Given the description of an element on the screen output the (x, y) to click on. 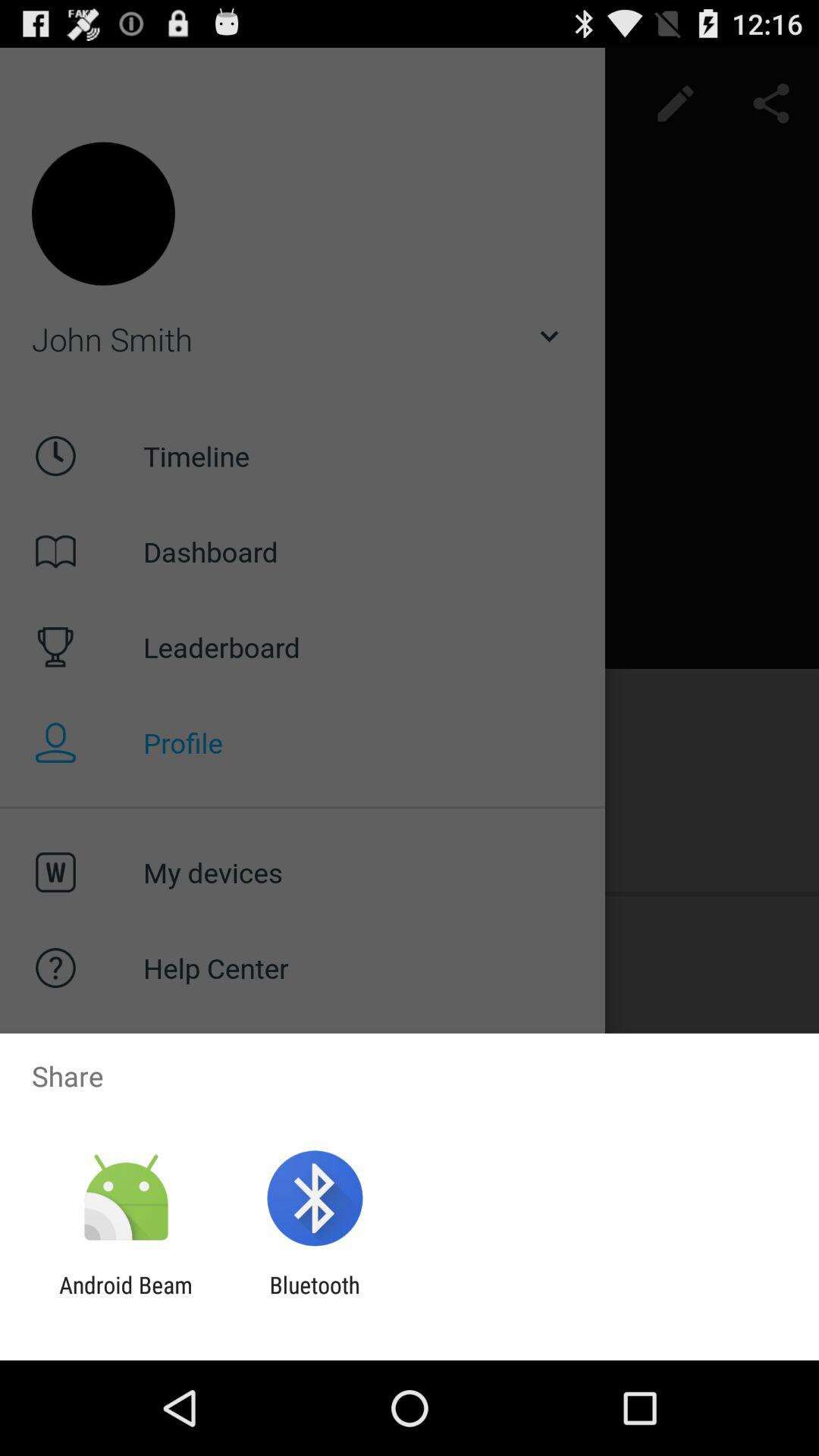
open the item to the right of the android beam app (314, 1298)
